Given the description of an element on the screen output the (x, y) to click on. 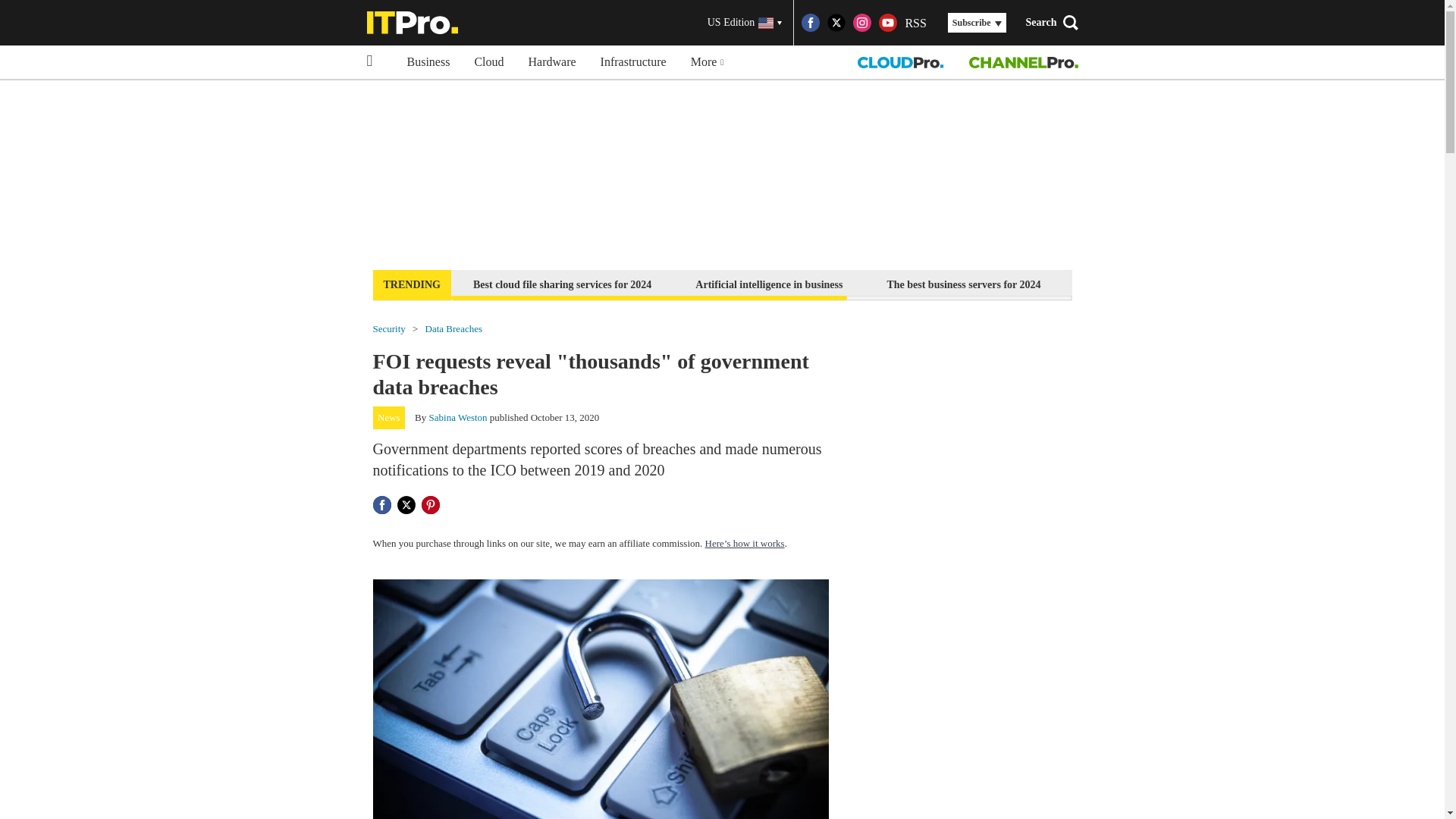
The best business servers for 2024 (962, 284)
Subscribe to the ITPro newsletter (1161, 284)
RSS (915, 22)
Infrastructure (633, 61)
Cloud (488, 61)
Security (389, 327)
Stop modern cyber attacks (1341, 284)
Hardware (552, 61)
Data Breaches (453, 327)
Artificial intelligence in business (768, 284)
Best cloud file sharing services for 2024 (561, 284)
US Edition (745, 22)
Sabina Weston (458, 417)
News (389, 417)
Business (427, 61)
